Given the description of an element on the screen output the (x, y) to click on. 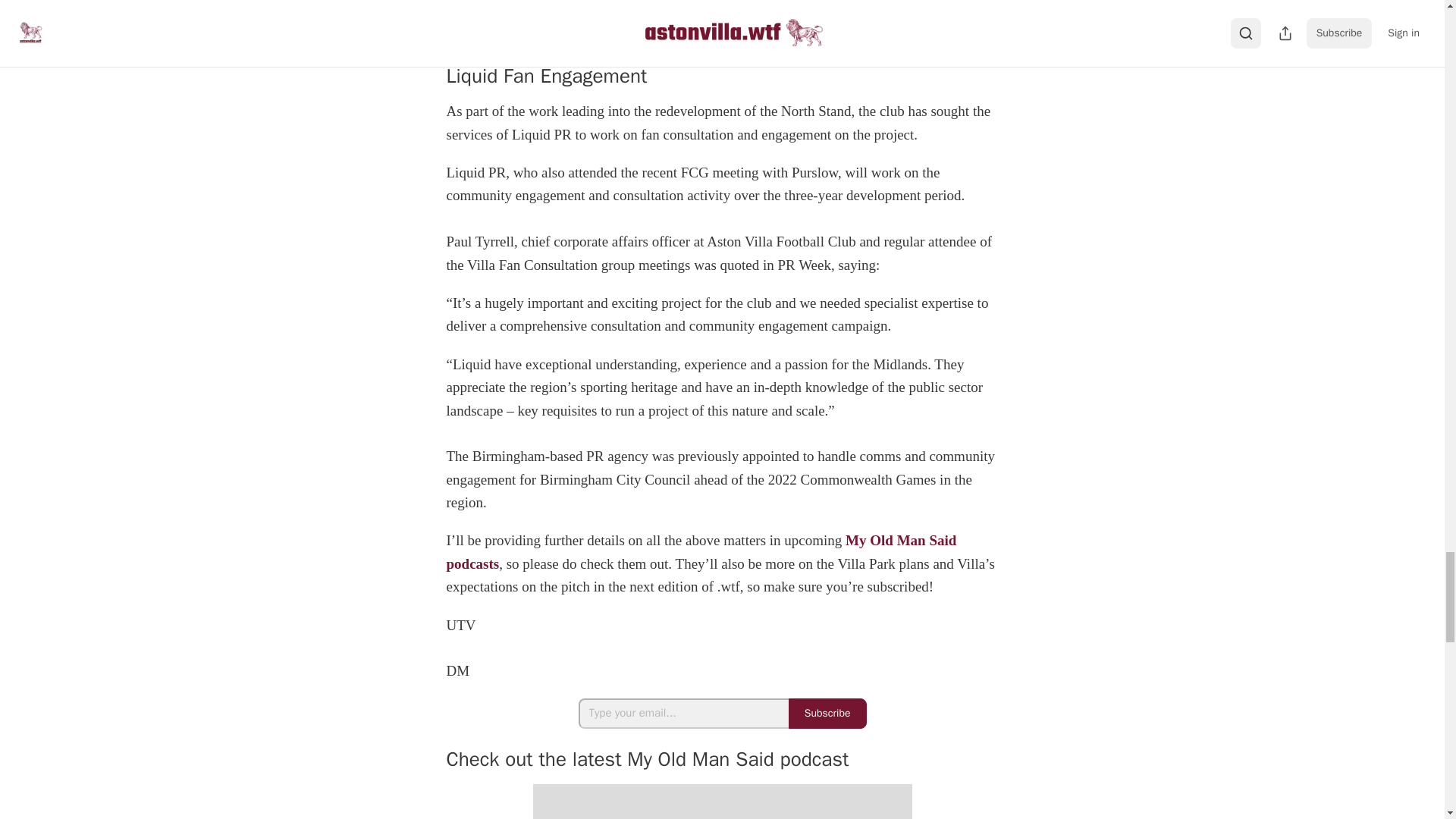
My Old Man Said podcasts (700, 551)
Subscribe (827, 713)
